Given the description of an element on the screen output the (x, y) to click on. 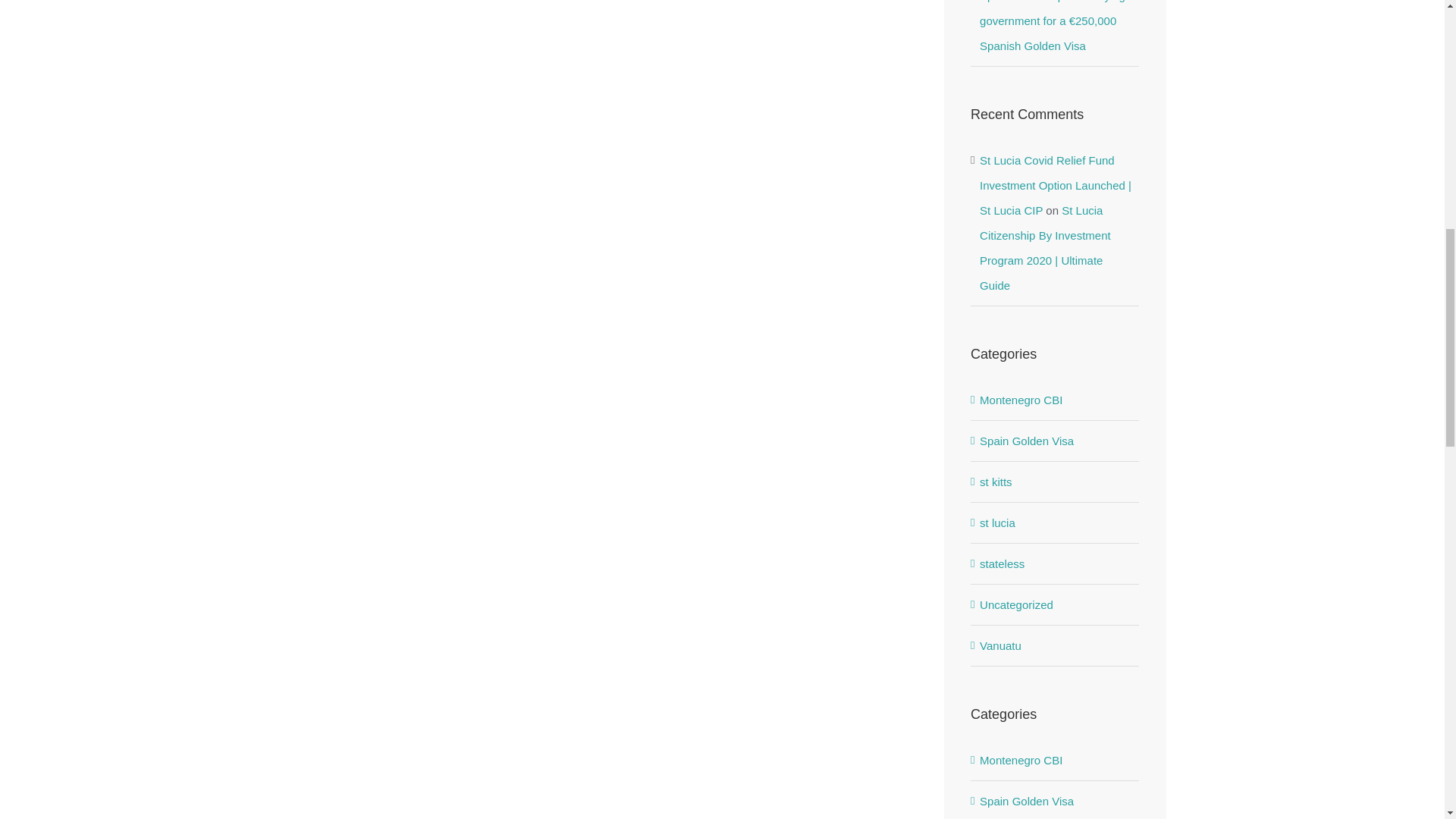
Uncategorized (1055, 604)
Montenegro CBI (1055, 399)
st kitts (1055, 481)
Spain Golden Visa (1055, 440)
stateless (1055, 563)
st lucia (1055, 522)
